Given the description of an element on the screen output the (x, y) to click on. 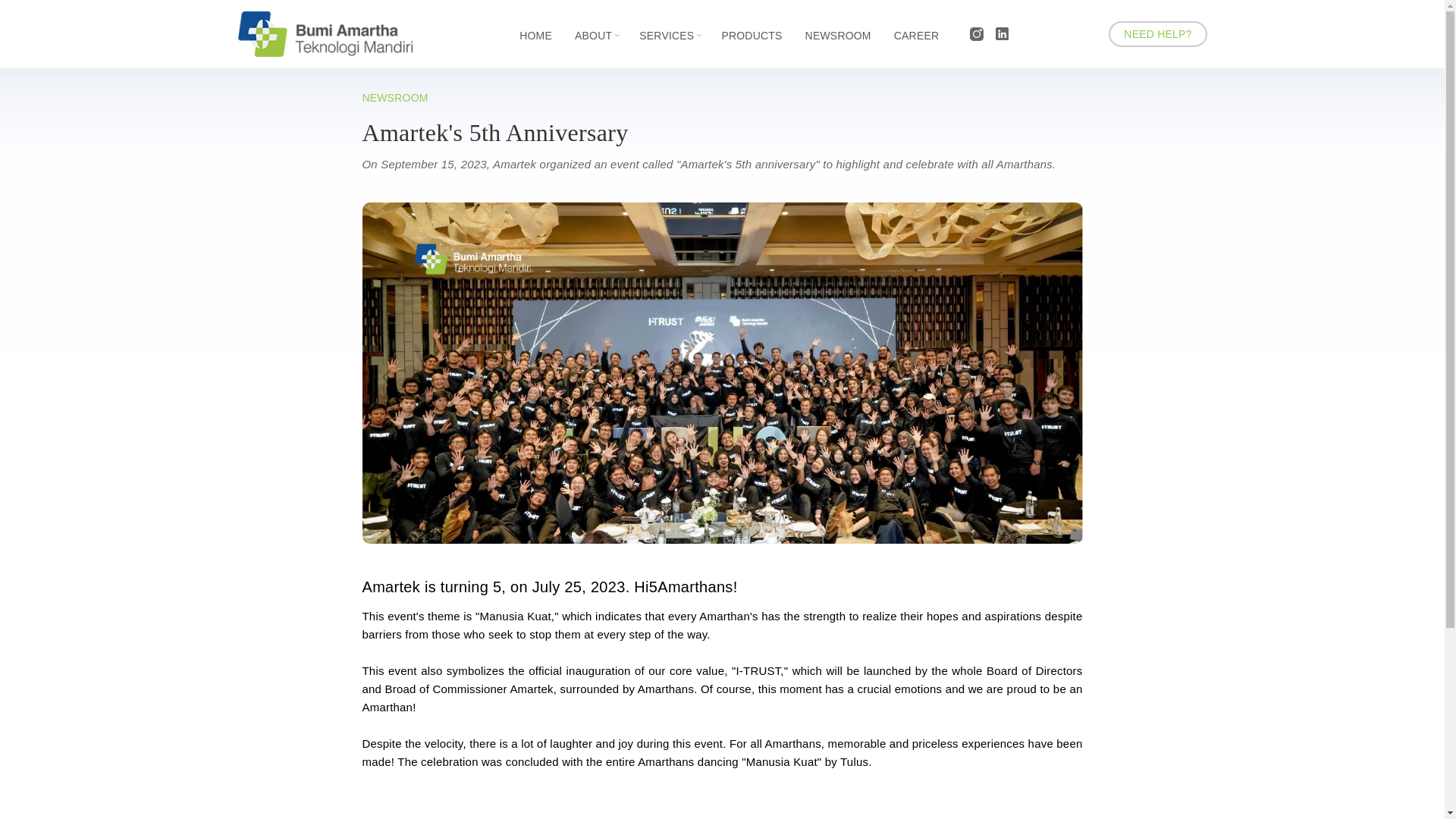
ABOUT (597, 35)
NEWSROOM (837, 35)
NEWSROOM (395, 97)
Bumi Amartha Teknologi Mandiri (325, 51)
Connect with us in LinkedIn (1001, 31)
SERVICES (670, 35)
Follow our Instagram (975, 31)
HOME (535, 35)
NEED HELP? (1157, 33)
CAREER (916, 35)
PRODUCTS (750, 35)
